Given the description of an element on the screen output the (x, y) to click on. 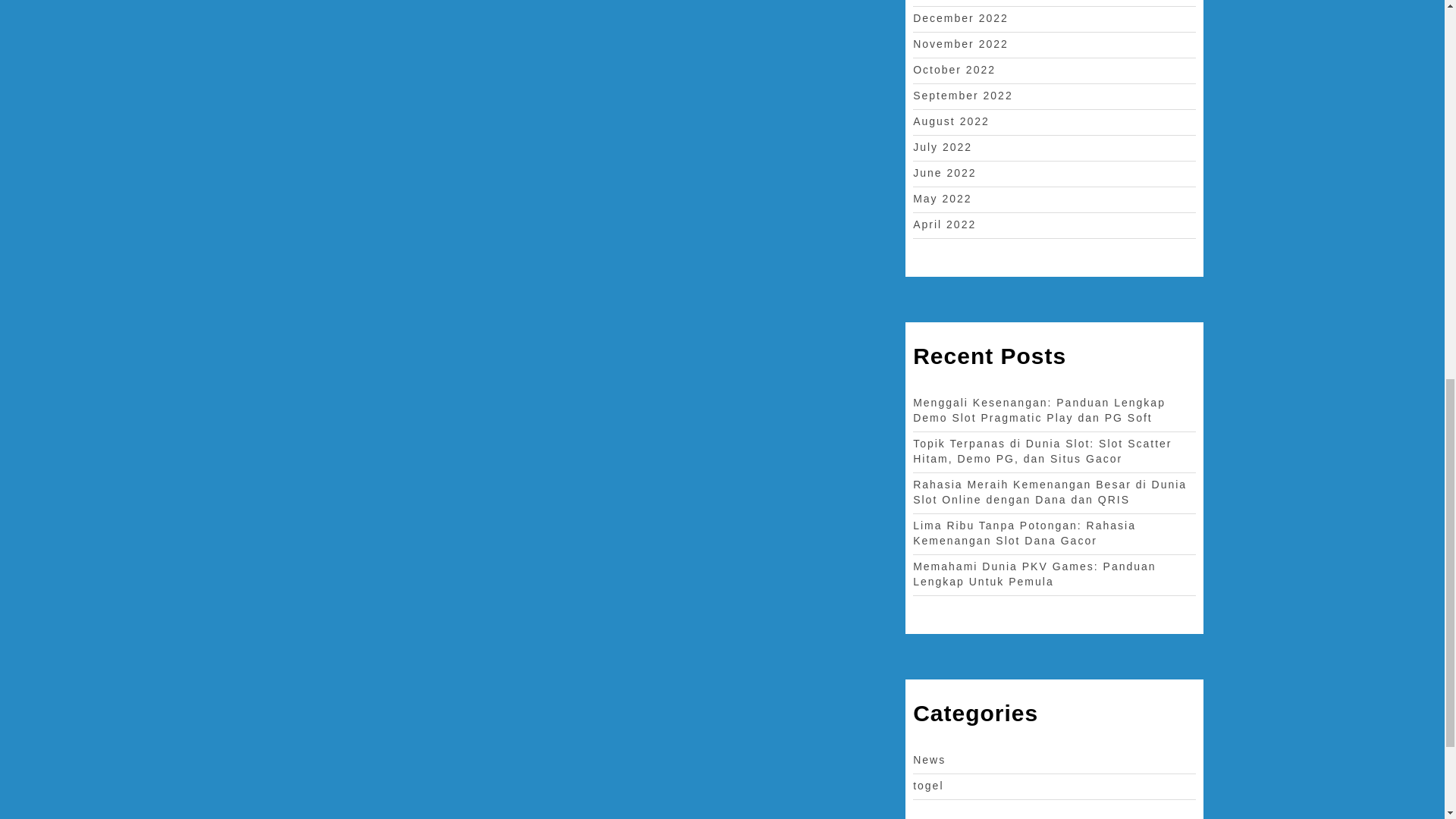
August 2022 (951, 121)
October 2022 (953, 69)
December 2022 (960, 18)
November 2022 (960, 43)
July 2022 (942, 146)
May 2022 (941, 198)
April 2022 (943, 224)
September 2022 (962, 95)
June 2022 (943, 173)
Lima Ribu Tanpa Potongan: Rahasia Kemenangan Slot Dana Gacor (1023, 533)
